Given the description of an element on the screen output the (x, y) to click on. 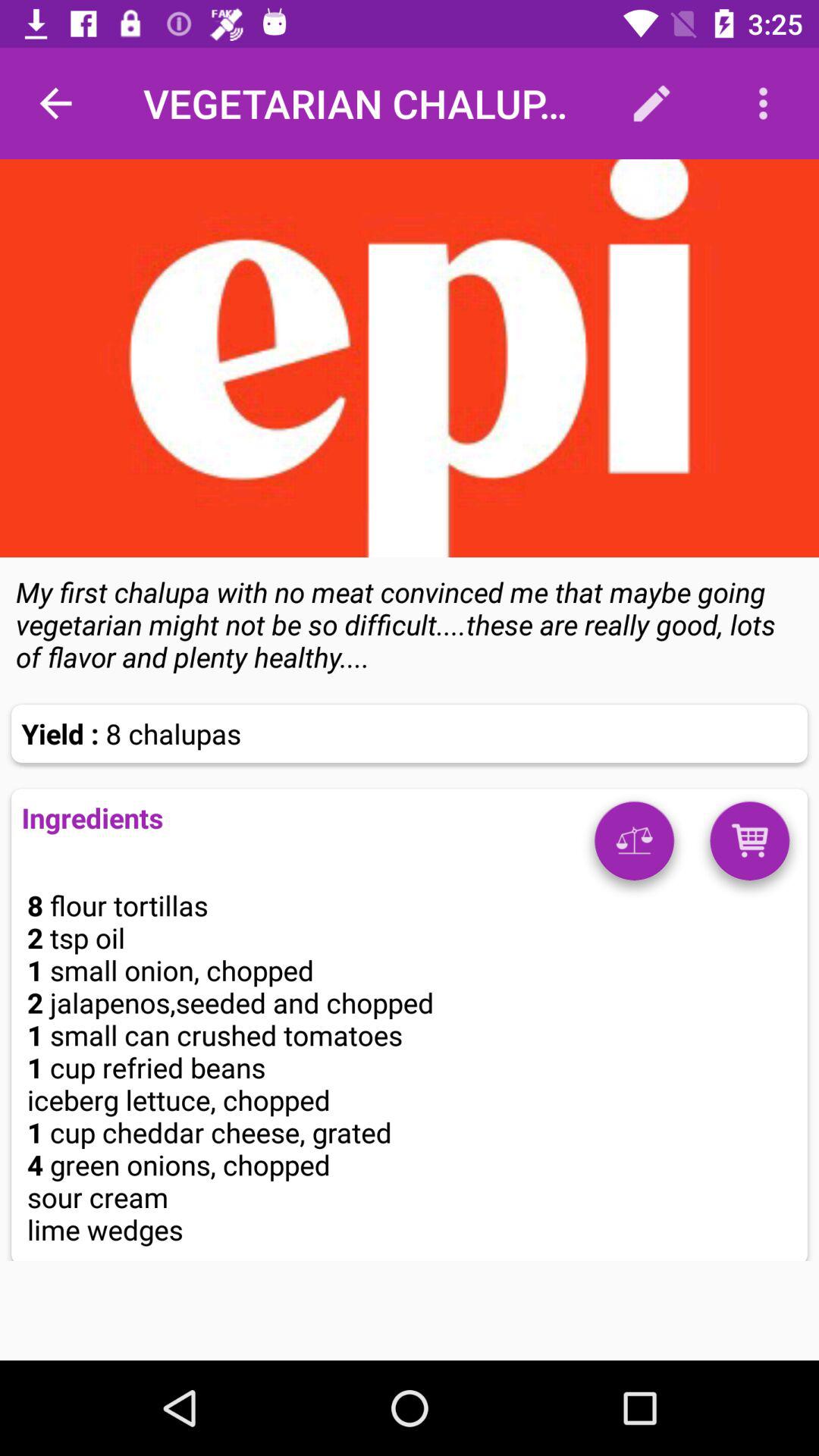
press the item next to the vegetarian chalupas (55, 103)
